Given the description of an element on the screen output the (x, y) to click on. 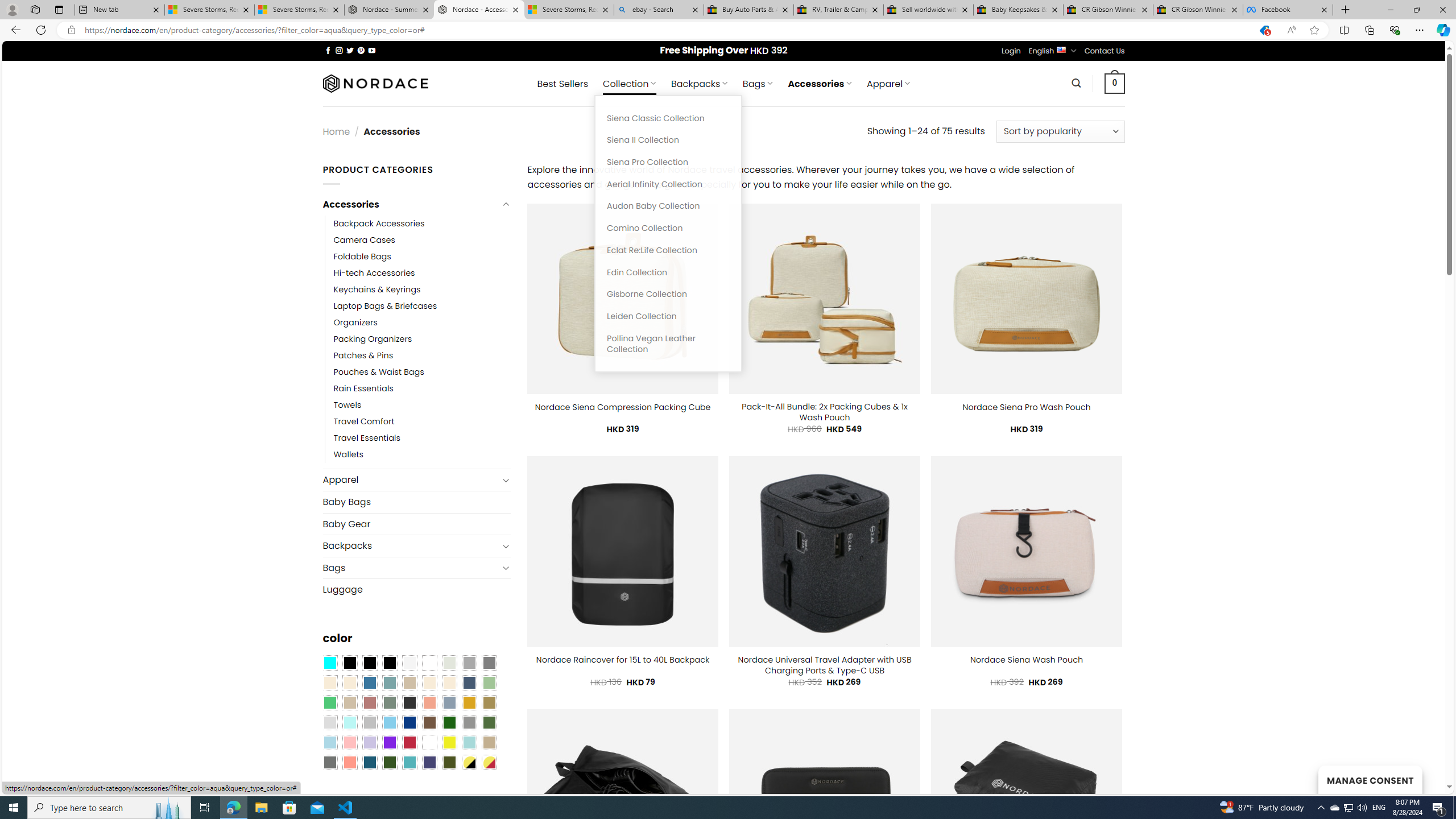
Siena II Collection (668, 140)
Yellow-Red (488, 762)
All Black (349, 662)
Gisborne Collection (668, 294)
Khaki (488, 741)
Teal (408, 762)
Pollina Vegan Leather Collection (668, 343)
Blue (369, 681)
 Best Sellers (562, 83)
